Given the description of an element on the screen output the (x, y) to click on. 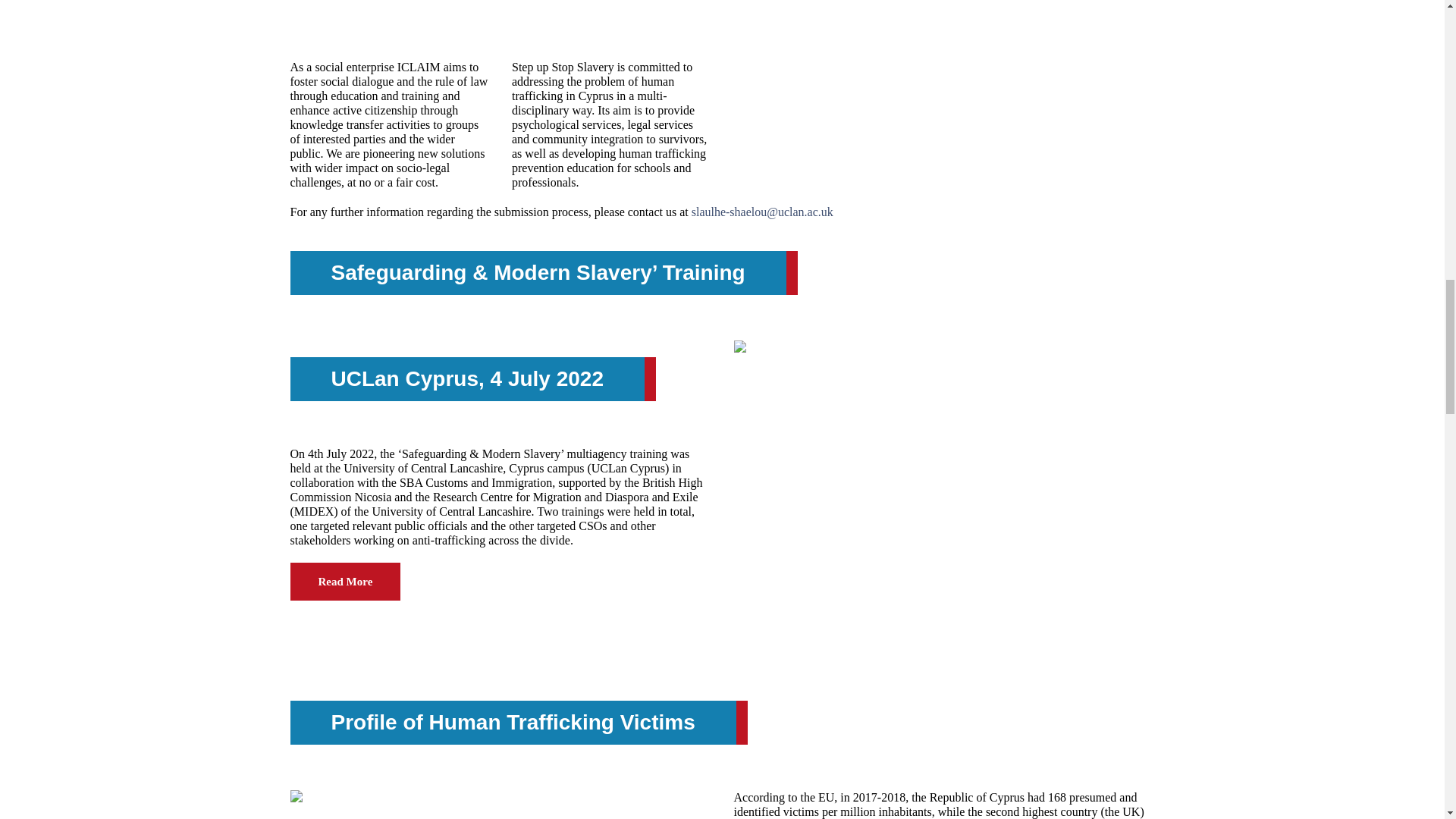
Read More (344, 581)
